Given the description of an element on the screen output the (x, y) to click on. 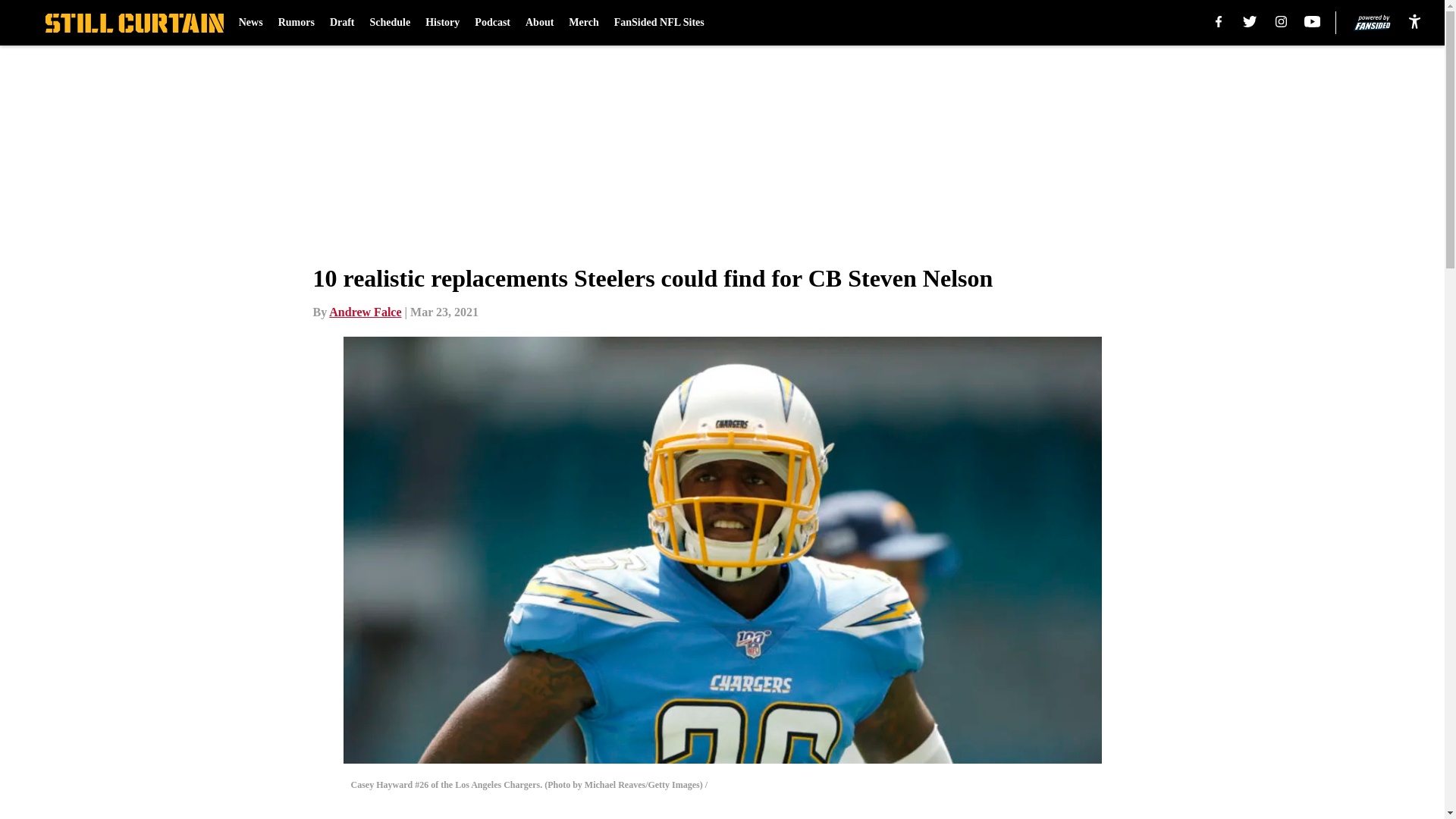
News (250, 22)
Rumors (296, 22)
History (442, 22)
Andrew Falce (365, 311)
Podcast (492, 22)
About (539, 22)
FanSided NFL Sites (659, 22)
Draft (342, 22)
Schedule (389, 22)
Merch (583, 22)
